Given the description of an element on the screen output the (x, y) to click on. 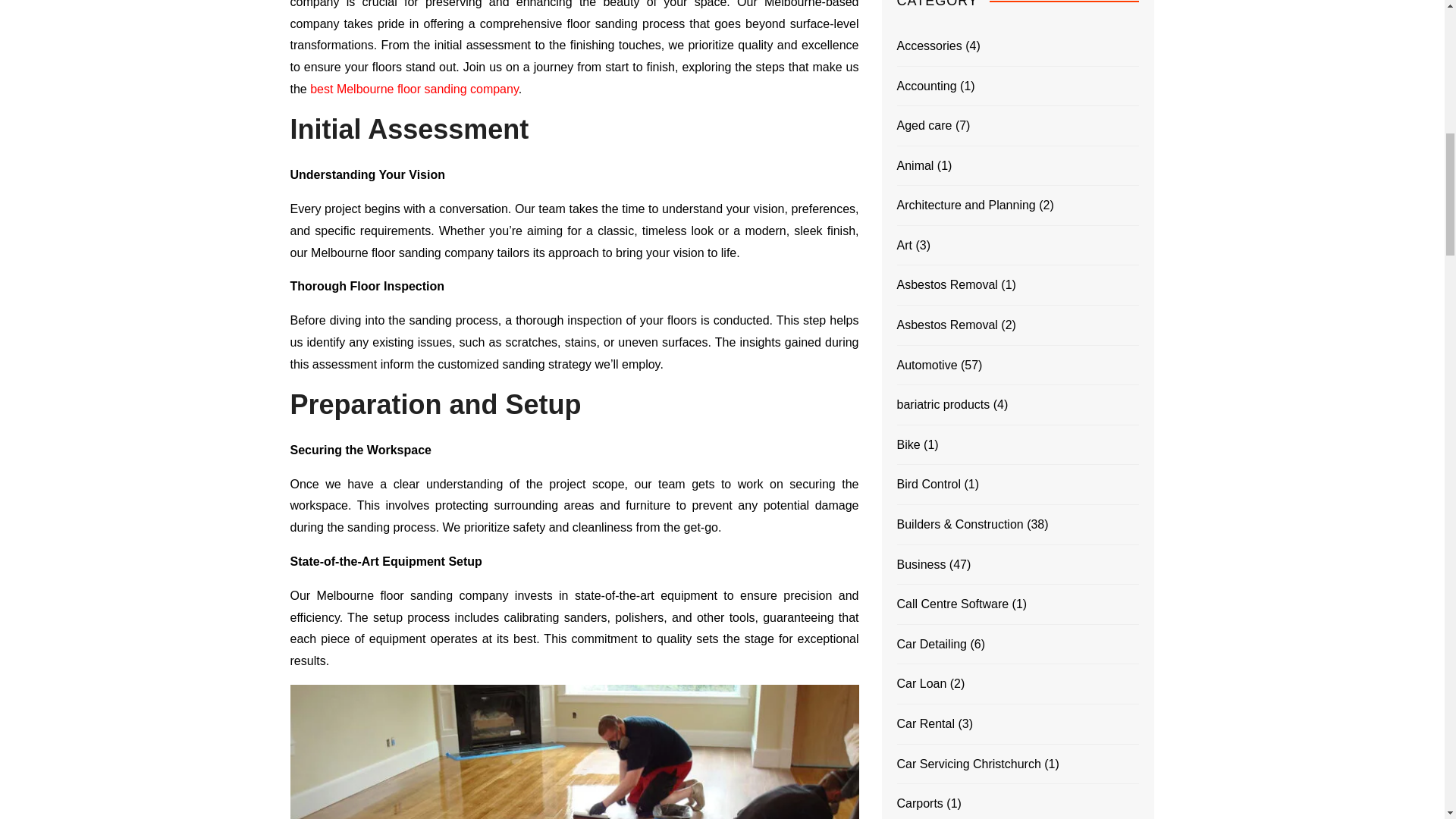
Business (920, 564)
Automotive (926, 365)
best Melbourne floor sanding company (414, 88)
Aged care (924, 125)
best Melbourne floor sanding company (414, 88)
Bike (908, 444)
Accounting (926, 85)
